Given the description of an element on the screen output the (x, y) to click on. 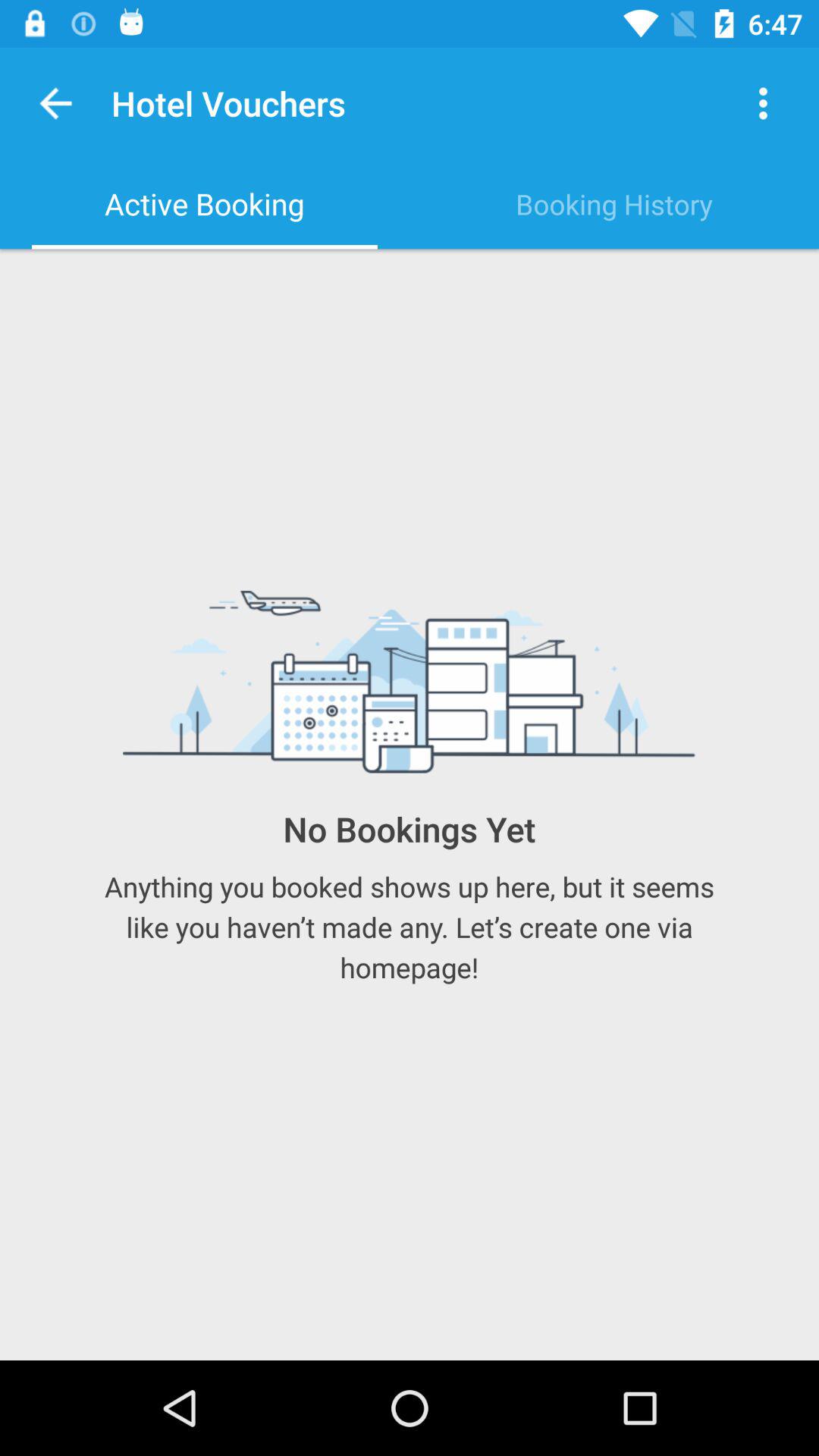
clique para abrir as opes (763, 103)
